Given the description of an element on the screen output the (x, y) to click on. 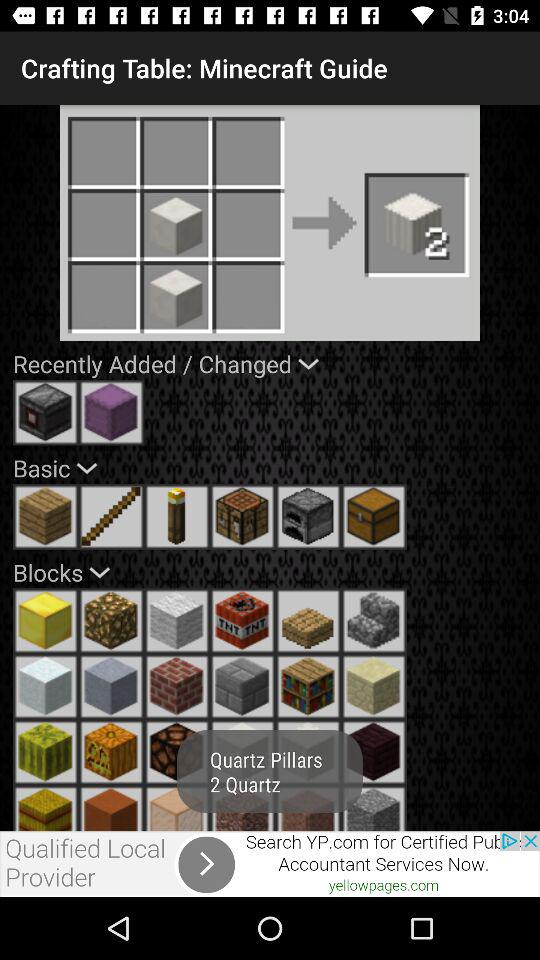
choose option (373, 808)
